Given the description of an element on the screen output the (x, y) to click on. 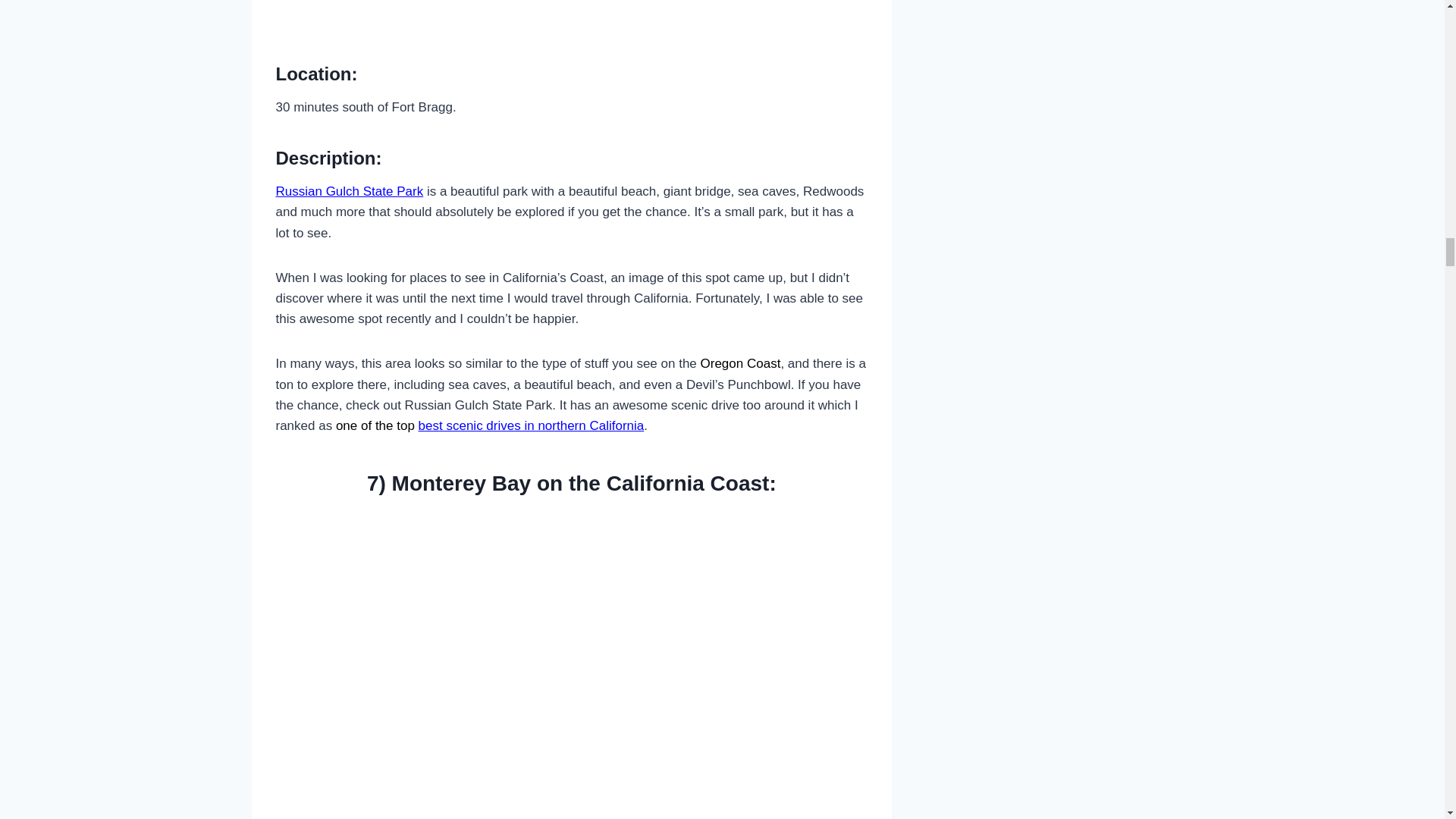
7 Adventures to Try at Russian Gulch State Park California (349, 191)
The 9 Best Scenic Drives in Northern California (532, 425)
Russian Gulch State Park (349, 191)
best scenic drives in northern California (532, 425)
